Given the description of an element on the screen output the (x, y) to click on. 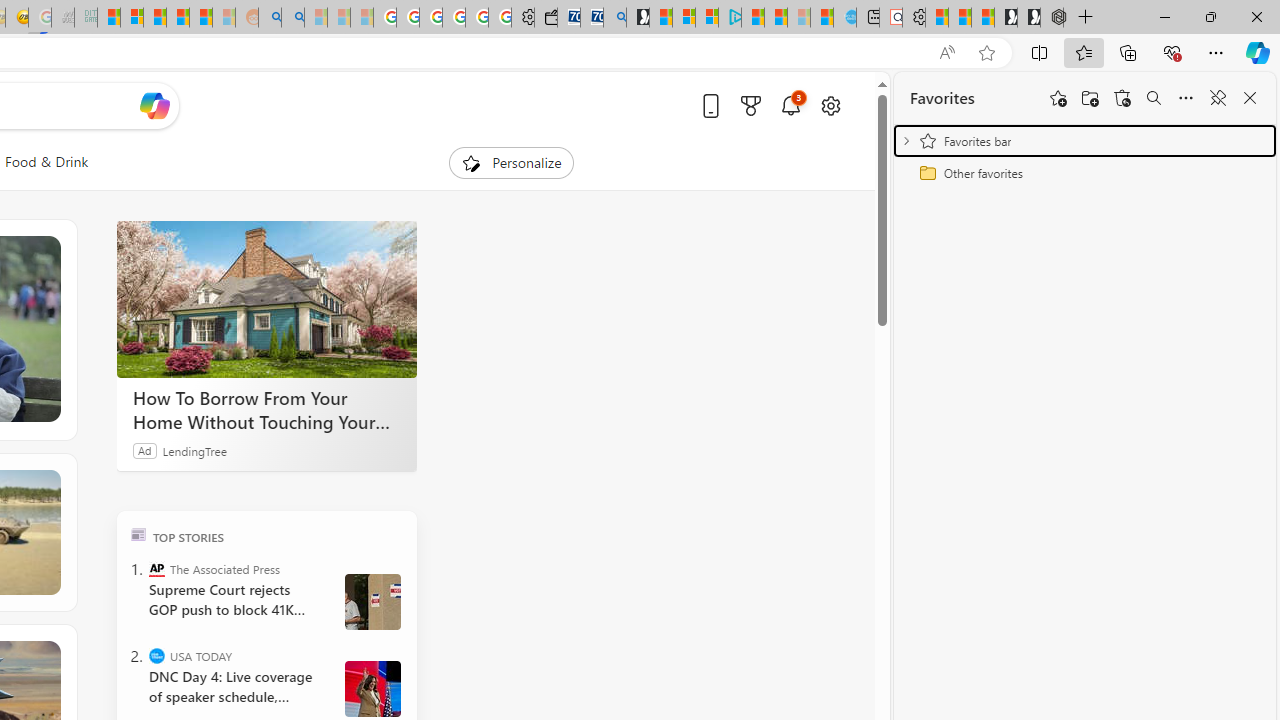
Unpin favorites (1217, 98)
MSNBC - MSN (109, 17)
Search favorites (1153, 98)
Play Free Online Games | Games from Microsoft Start (1028, 17)
